Given the description of an element on the screen output the (x, y) to click on. 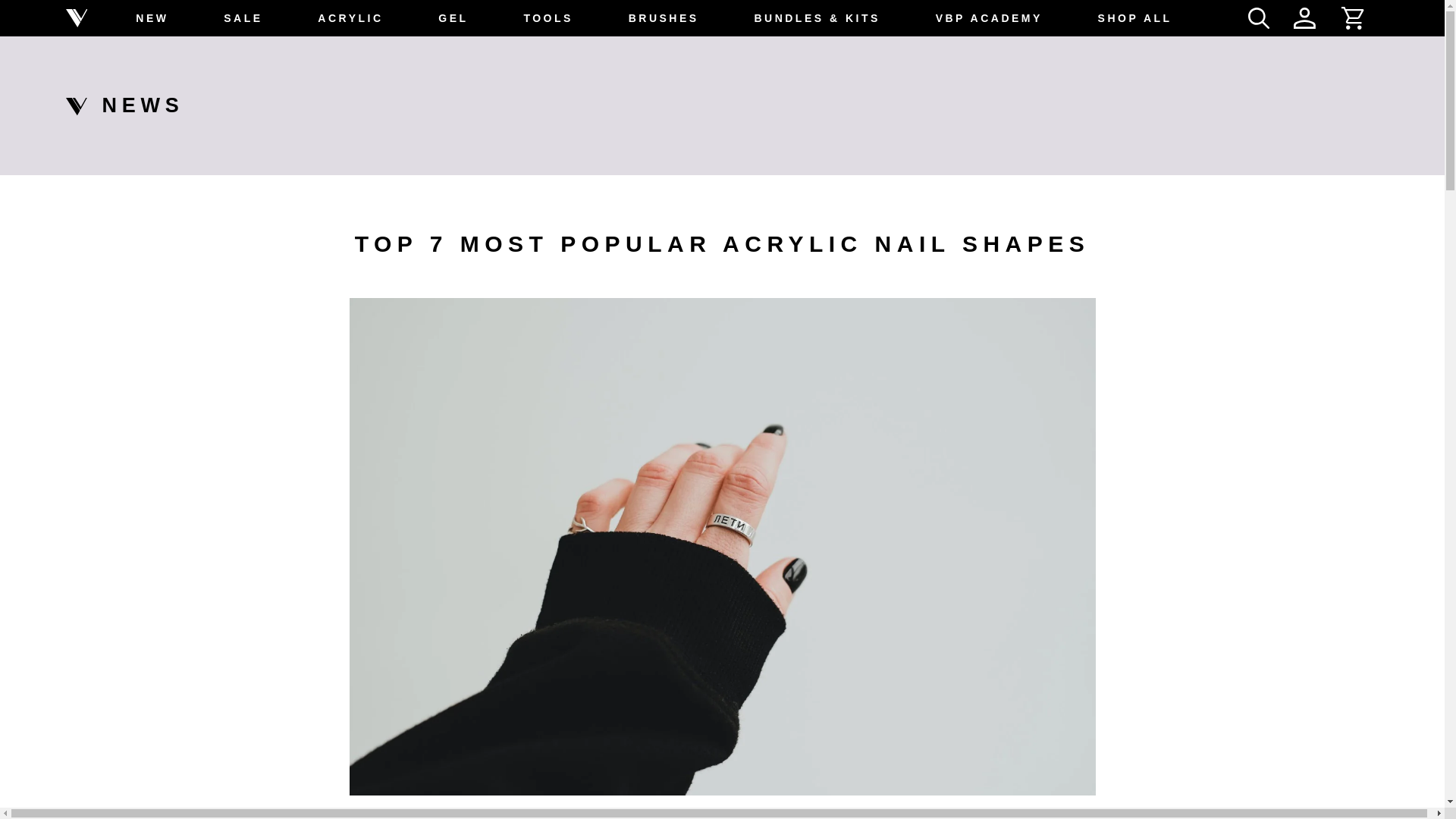
GEL (452, 18)
NEW (151, 18)
SALE (243, 18)
ACRYLIC (349, 18)
